Given the description of an element on the screen output the (x, y) to click on. 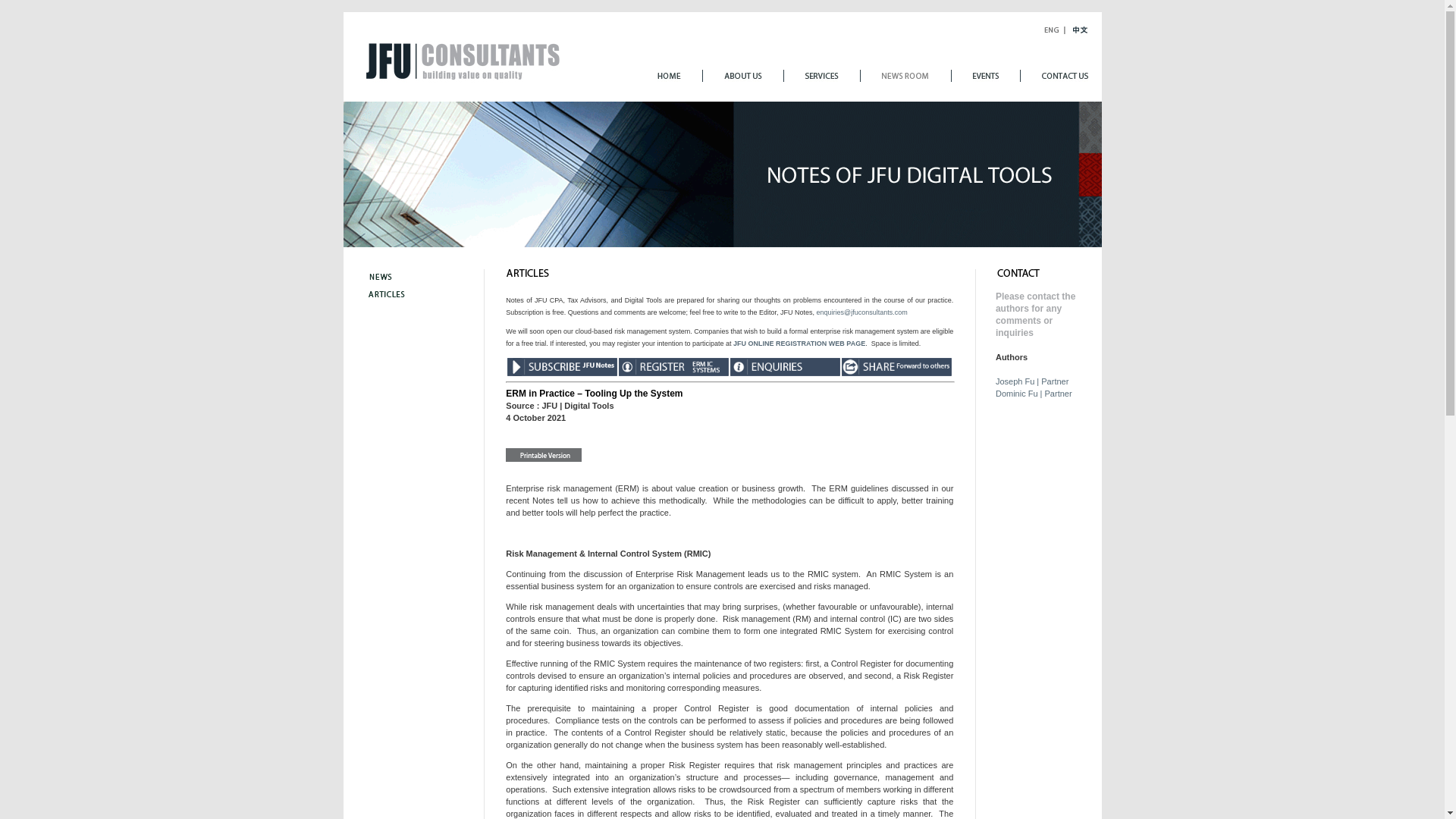
JFU ONLINE REGISTRATION WEB PAGE (798, 343)
